Given the description of an element on the screen output the (x, y) to click on. 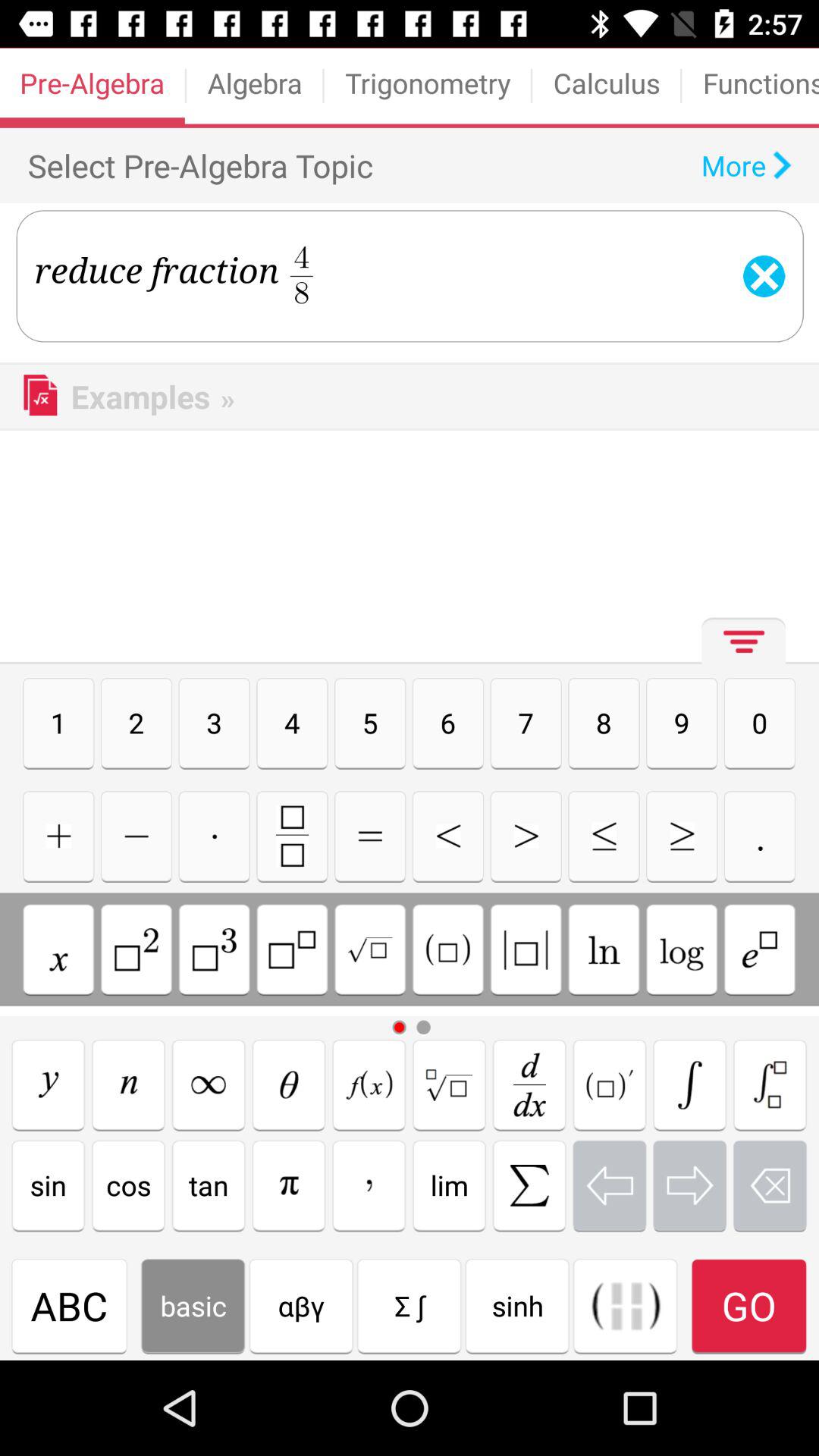
keywords button (292, 949)
